Given the description of an element on the screen output the (x, y) to click on. 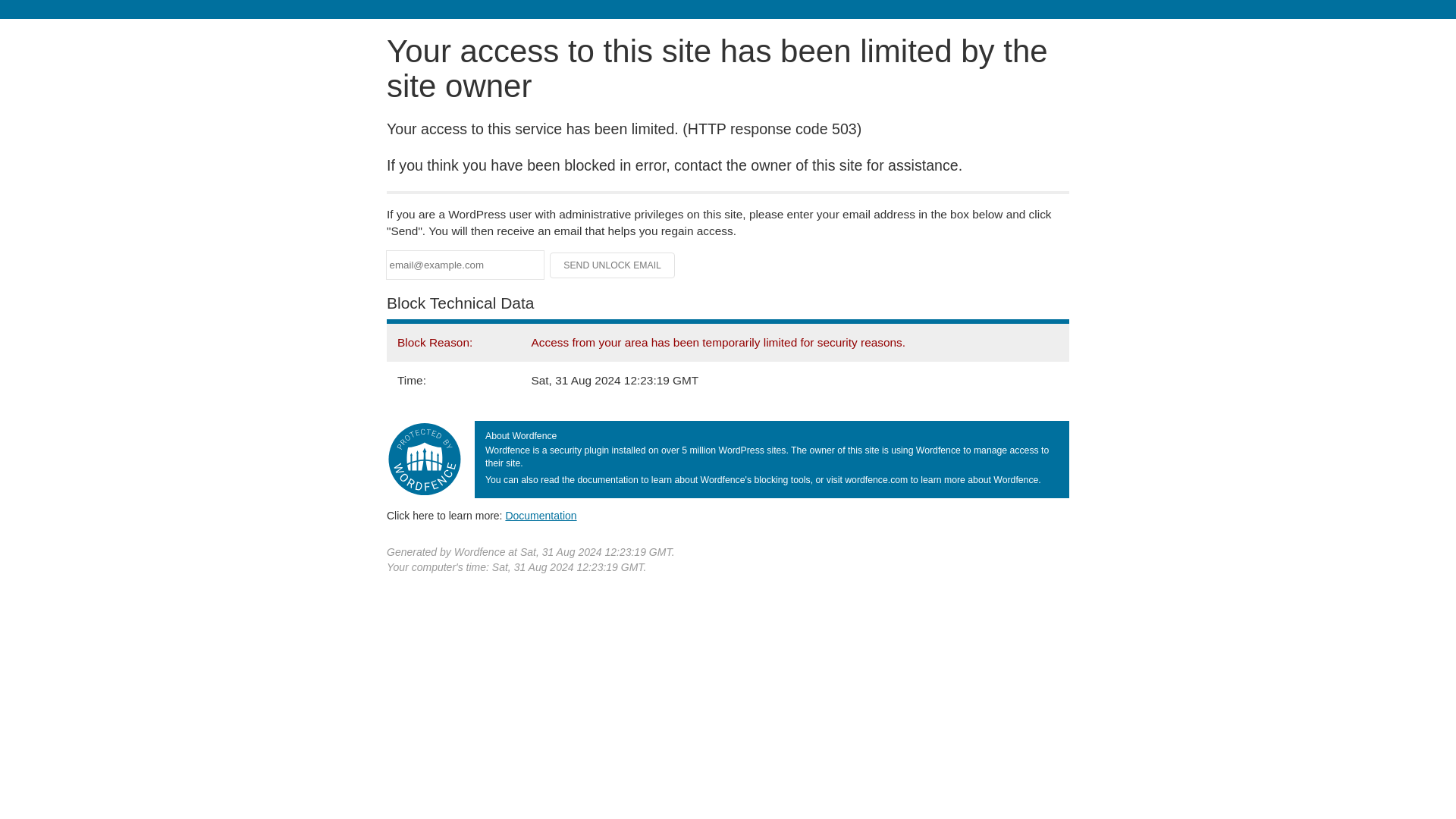
Send Unlock Email (612, 265)
Documentation (540, 515)
Send Unlock Email (612, 265)
